Given the description of an element on the screen output the (x, y) to click on. 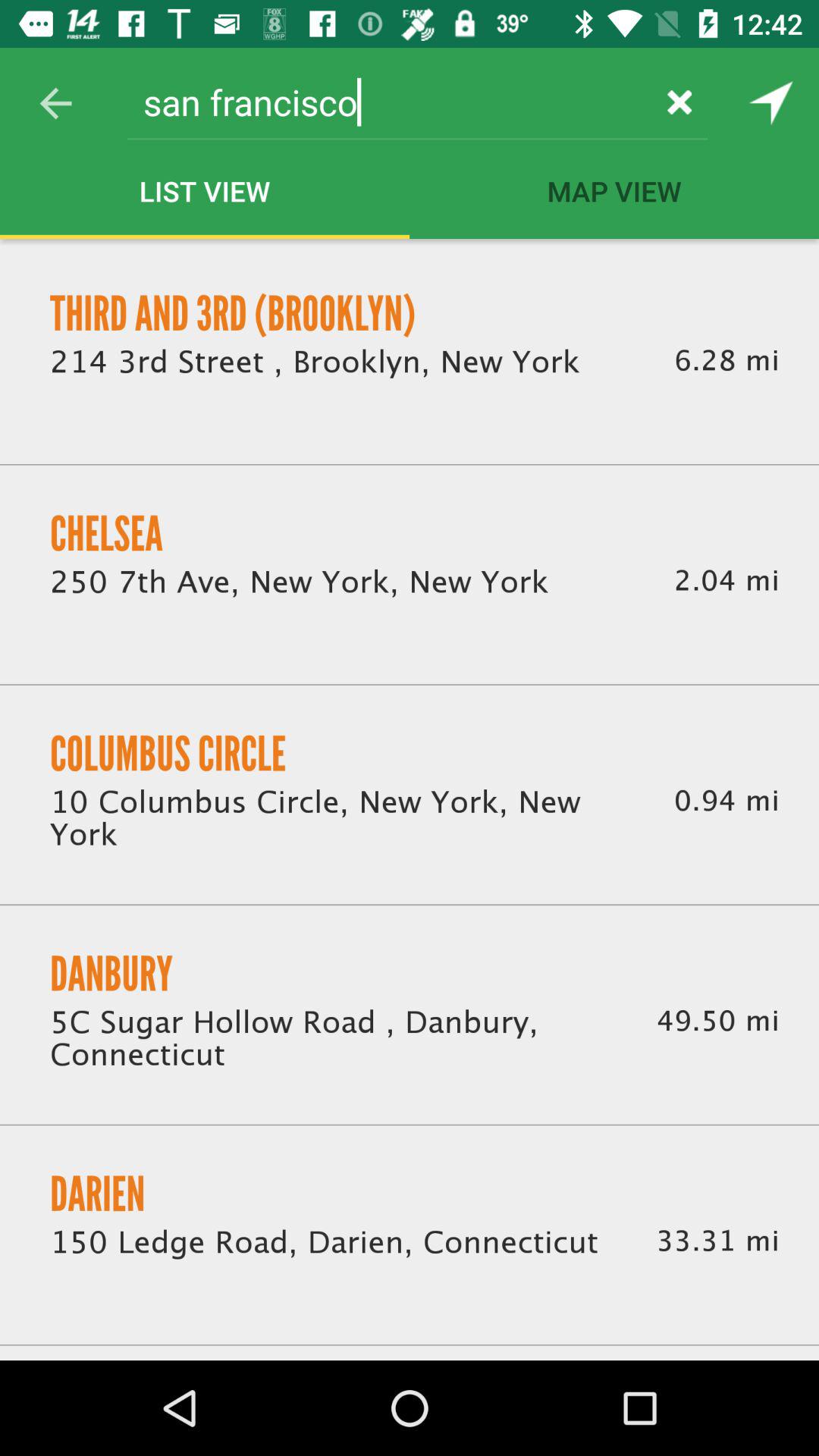
turn off 5c sugar hollow icon (334, 1040)
